Given the description of an element on the screen output the (x, y) to click on. 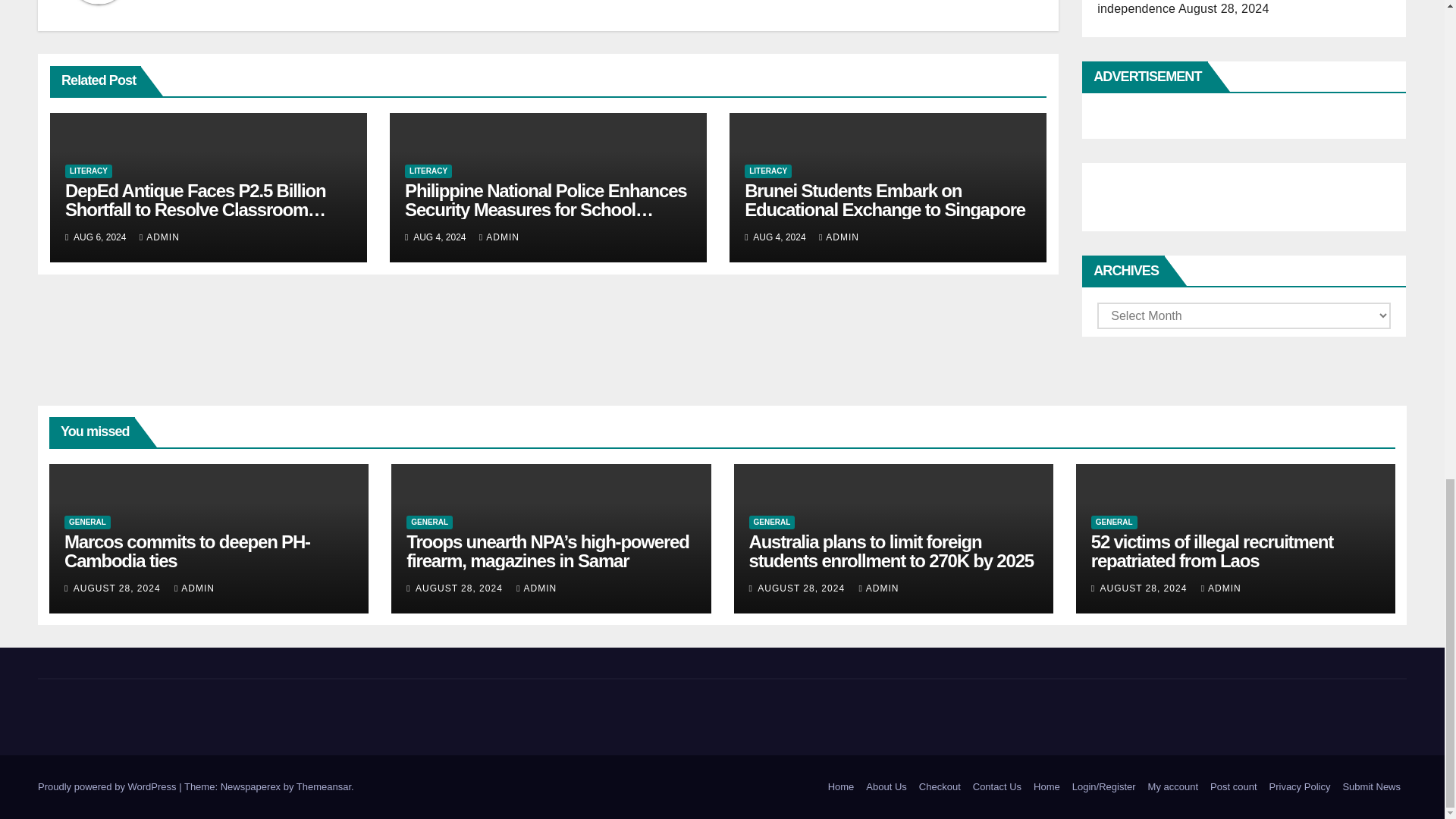
LITERACY (88, 171)
ADMIN (159, 236)
LITERACY (427, 171)
